Given the description of an element on the screen output the (x, y) to click on. 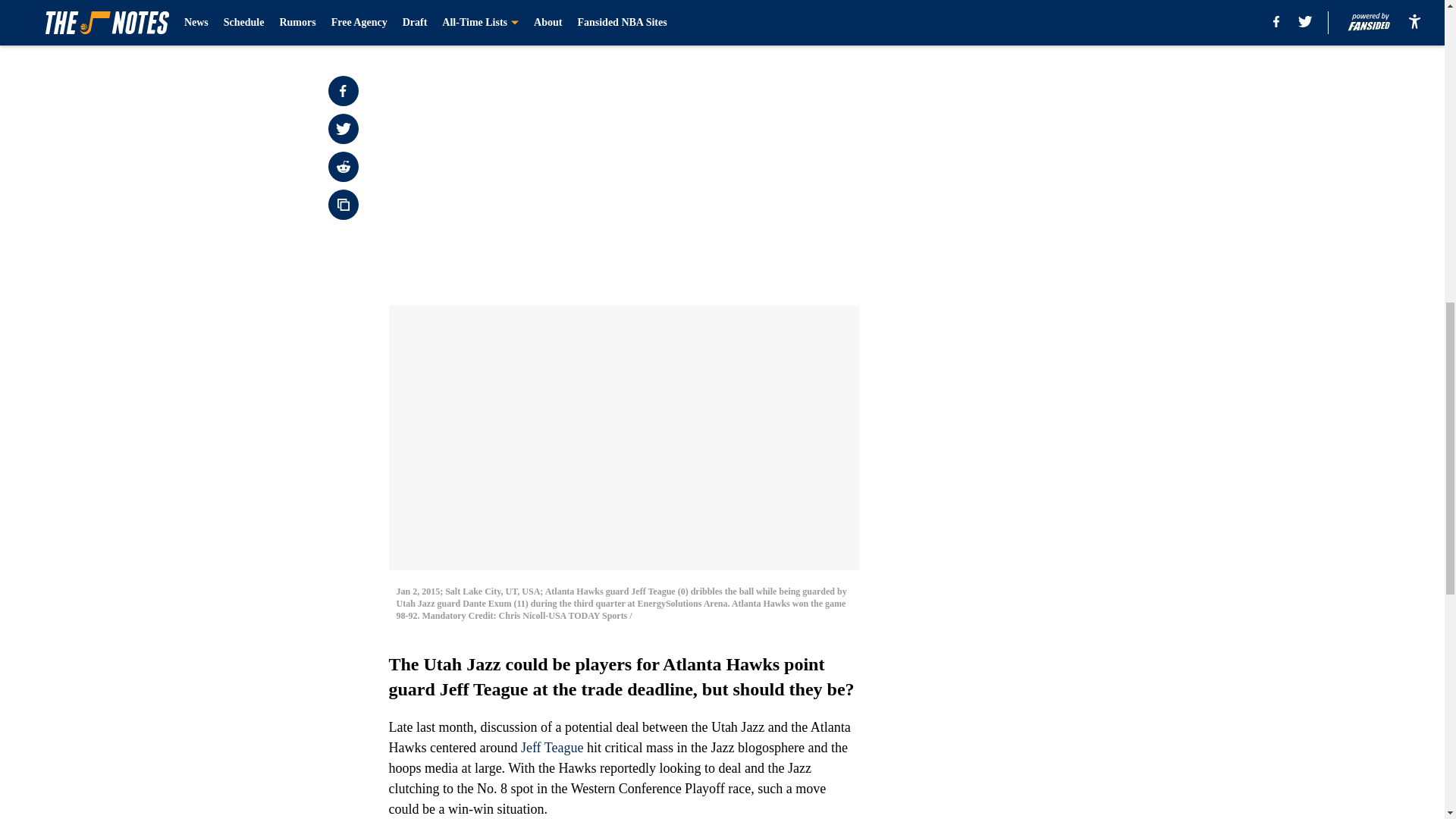
Prev (433, 5)
Next (813, 5)
Jeff Teague (552, 747)
